Given the description of an element on the screen output the (x, y) to click on. 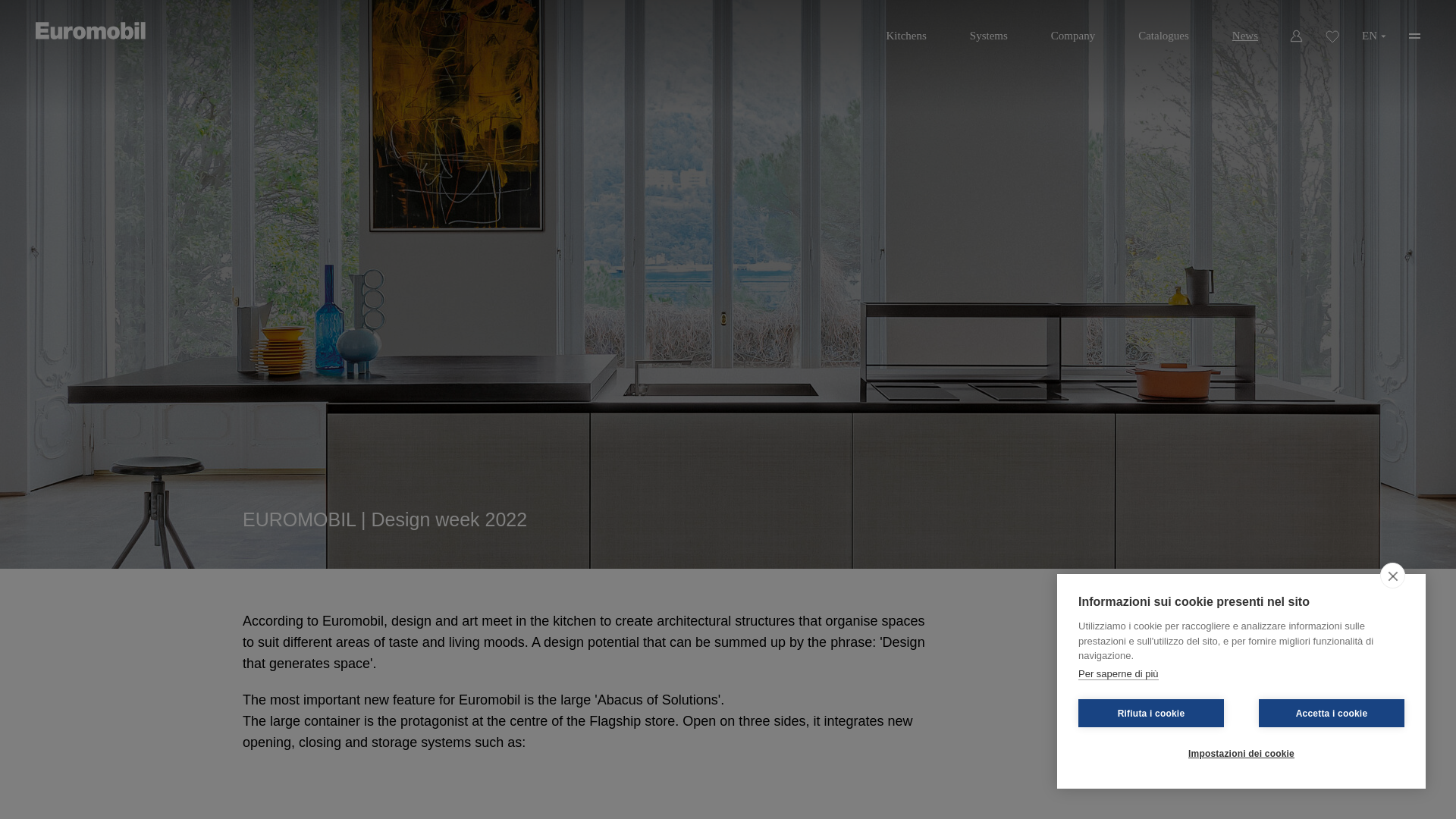
Catalogues (1162, 30)
Systems (988, 30)
Kitchens (906, 30)
Company (1072, 30)
